Given the description of an element on the screen output the (x, y) to click on. 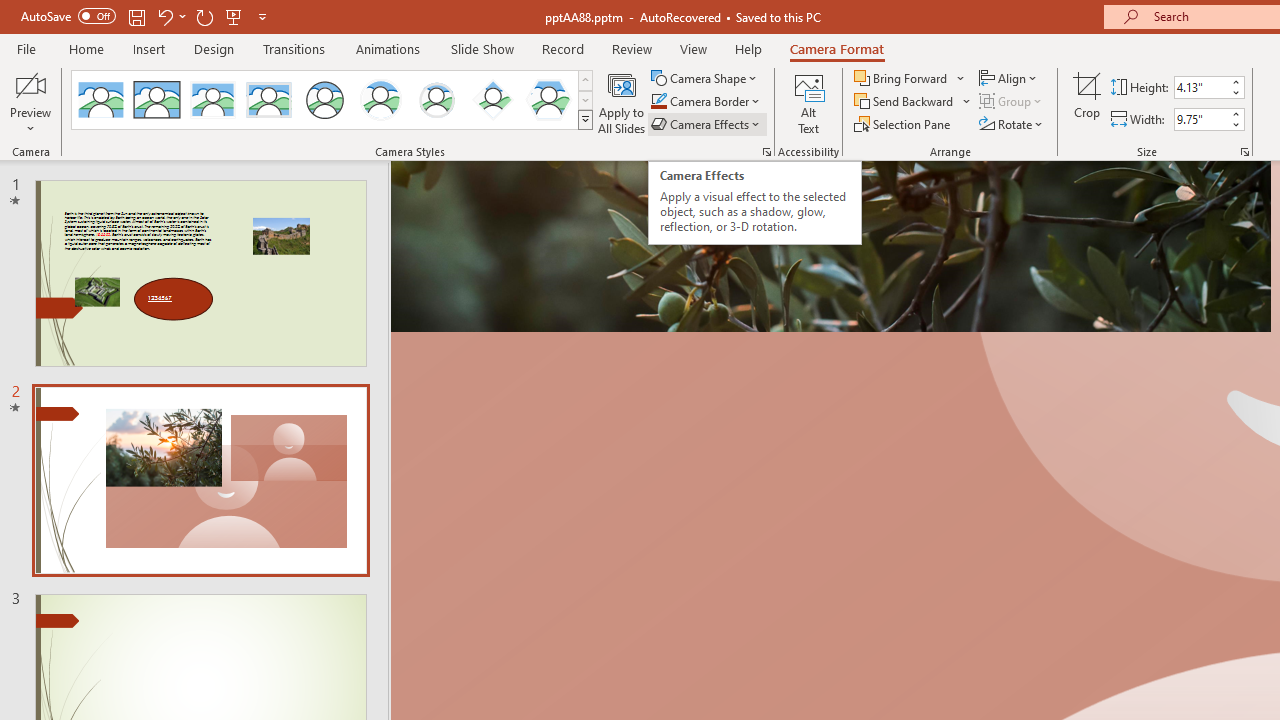
Close up of an olive branch on a sunset (830, 246)
Cameo Width (1201, 119)
No Style (100, 100)
Simple Frame Rectangle (157, 100)
Apply to All Slides (621, 102)
Rotate (1012, 124)
Alt Text (808, 102)
Center Shadow Hexagon (548, 100)
